Given the description of an element on the screen output the (x, y) to click on. 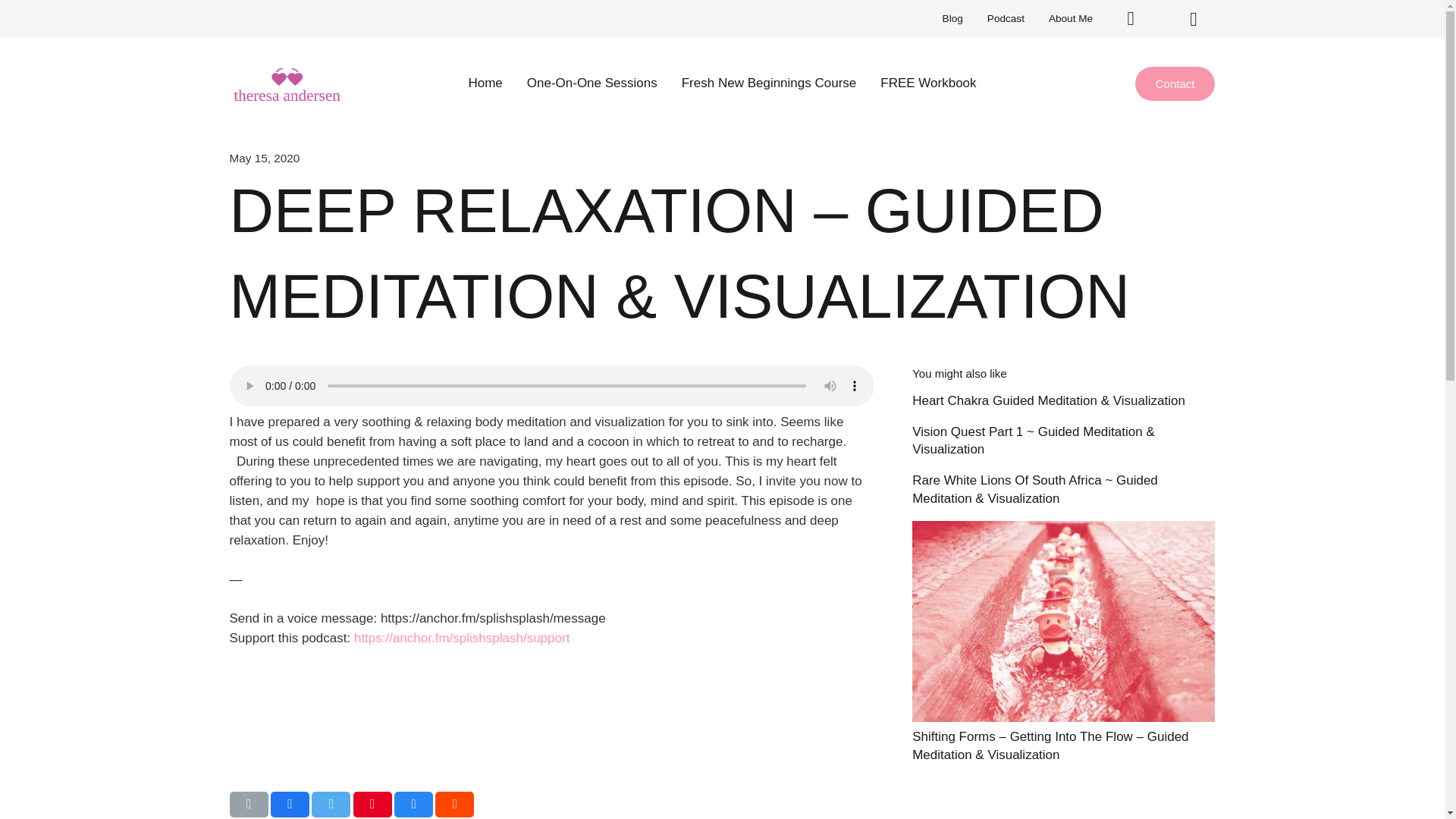
Fresh New Beginnings Course (769, 82)
Tweet this (330, 804)
Share this (413, 804)
Contact (1175, 83)
Blog (952, 18)
FREE Workbook (927, 82)
About Me (1070, 18)
Share this (454, 804)
Share this (289, 804)
One-On-One Sessions (592, 82)
